Given the description of an element on the screen output the (x, y) to click on. 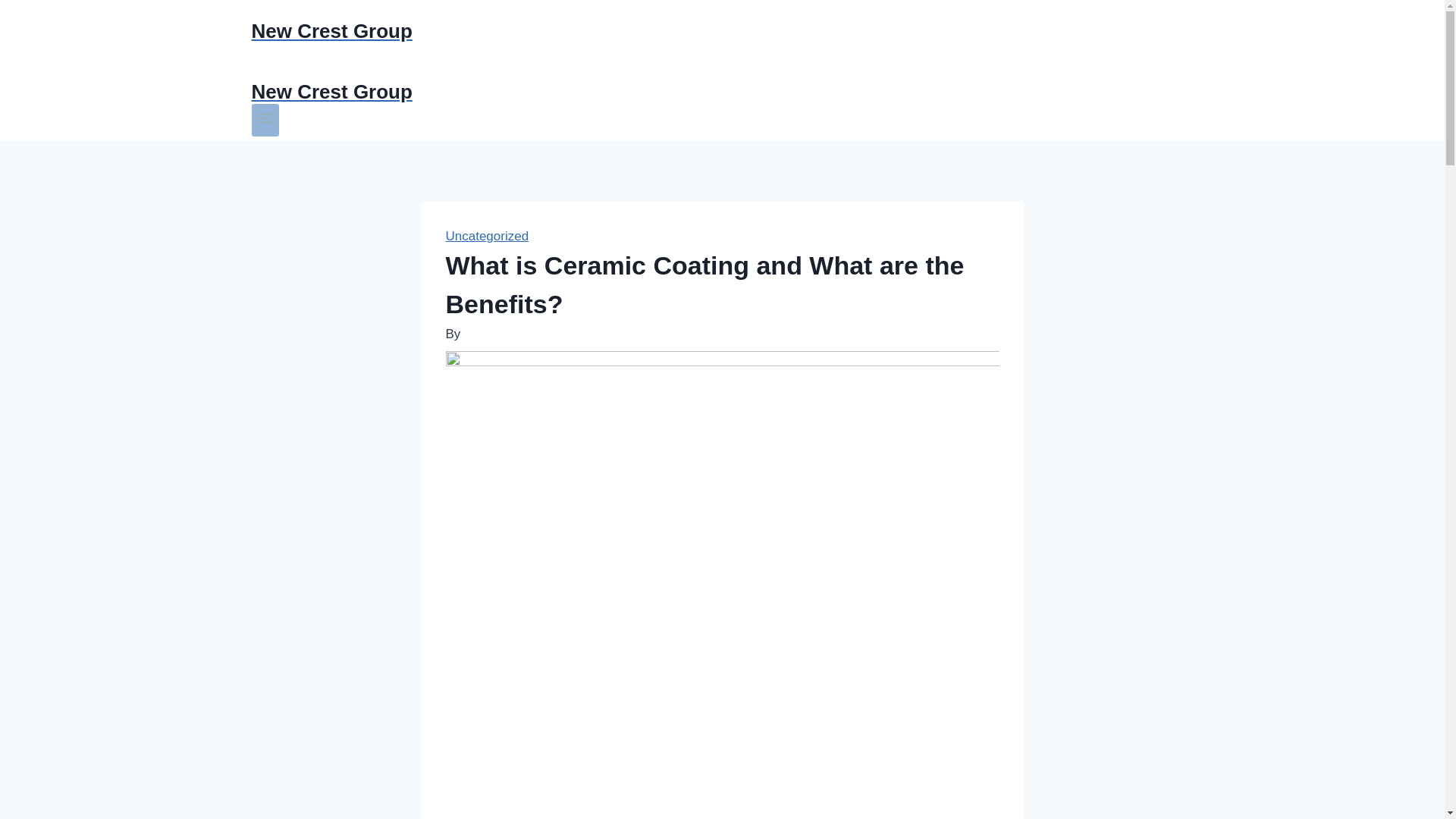
Uncategorized (487, 236)
New Crest Group (722, 92)
New Crest Group (722, 31)
